Given the description of an element on the screen output the (x, y) to click on. 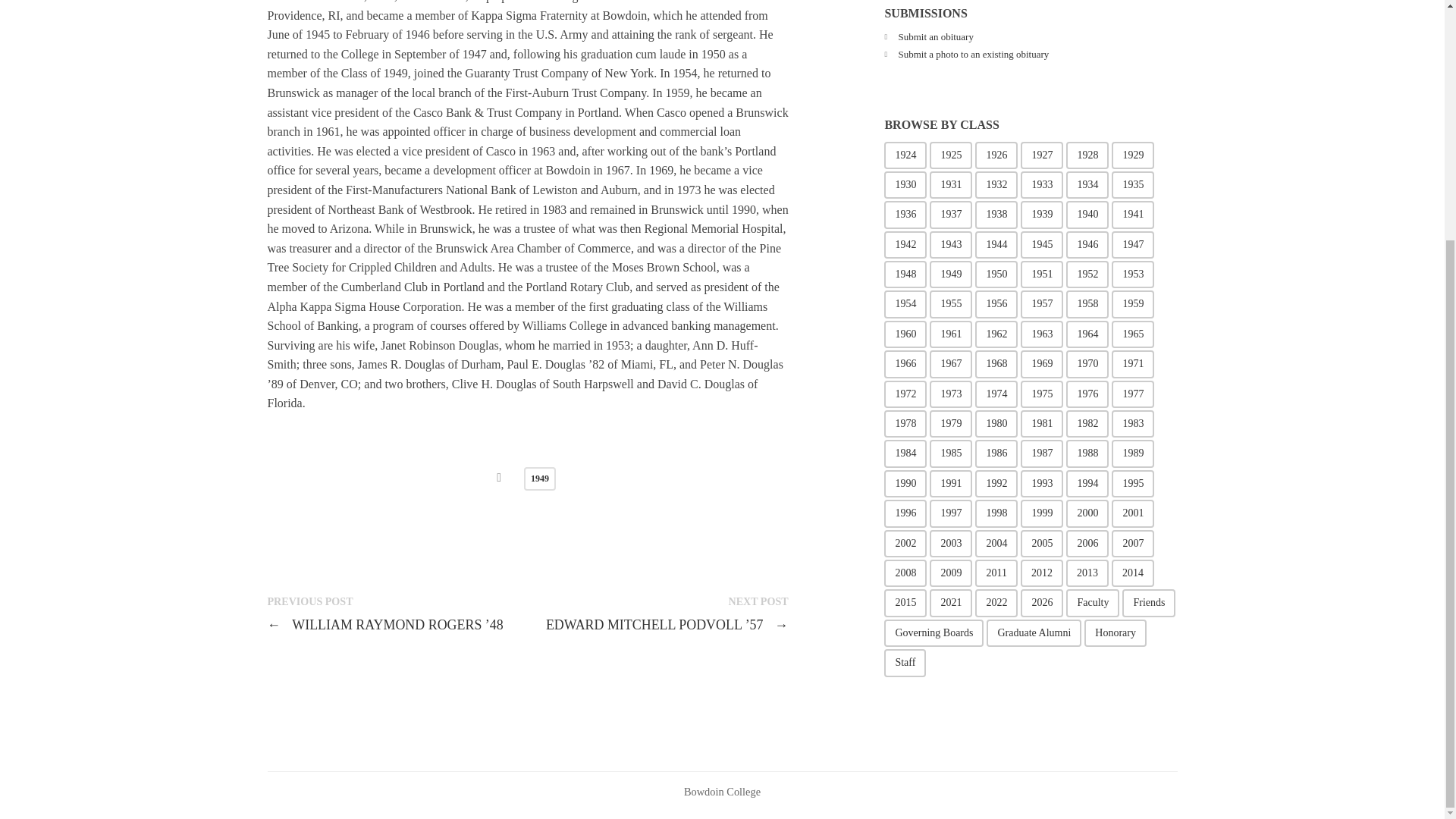
2 topics (1086, 154)
1949 (540, 478)
1 topic (996, 154)
1930 (904, 185)
1 topic (904, 154)
1946 (1086, 244)
2 topics (1133, 154)
1948 (904, 274)
1926 (996, 154)
